Given the description of an element on the screen output the (x, y) to click on. 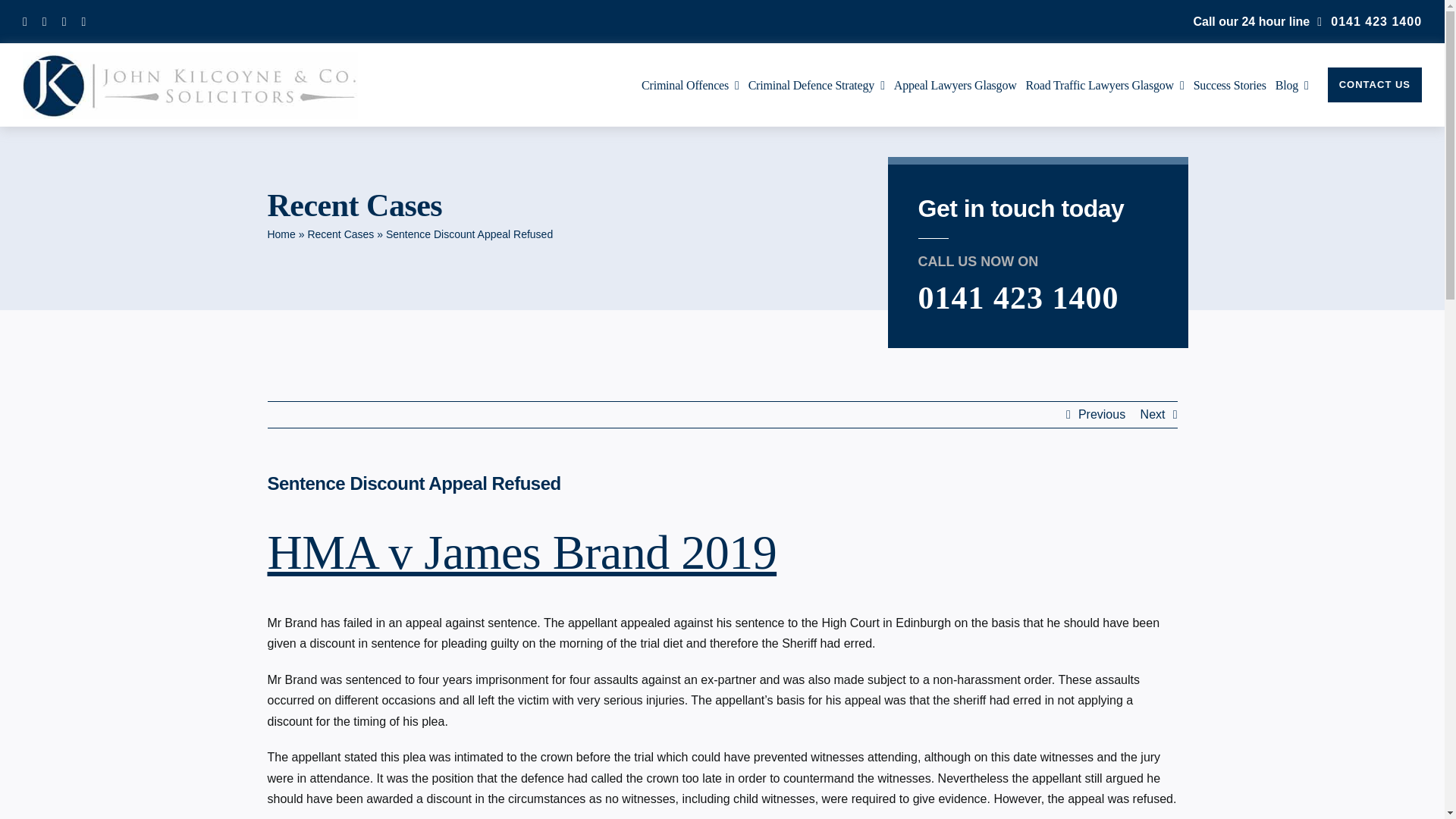
Appeal Lawyers Glasgow (954, 84)
Criminal Defence Strategy (816, 84)
Road Traffic Lawyers Glasgow (1105, 84)
Criminal Offences (690, 84)
0141 423 1400 (1369, 21)
